Given the description of an element on the screen output the (x, y) to click on. 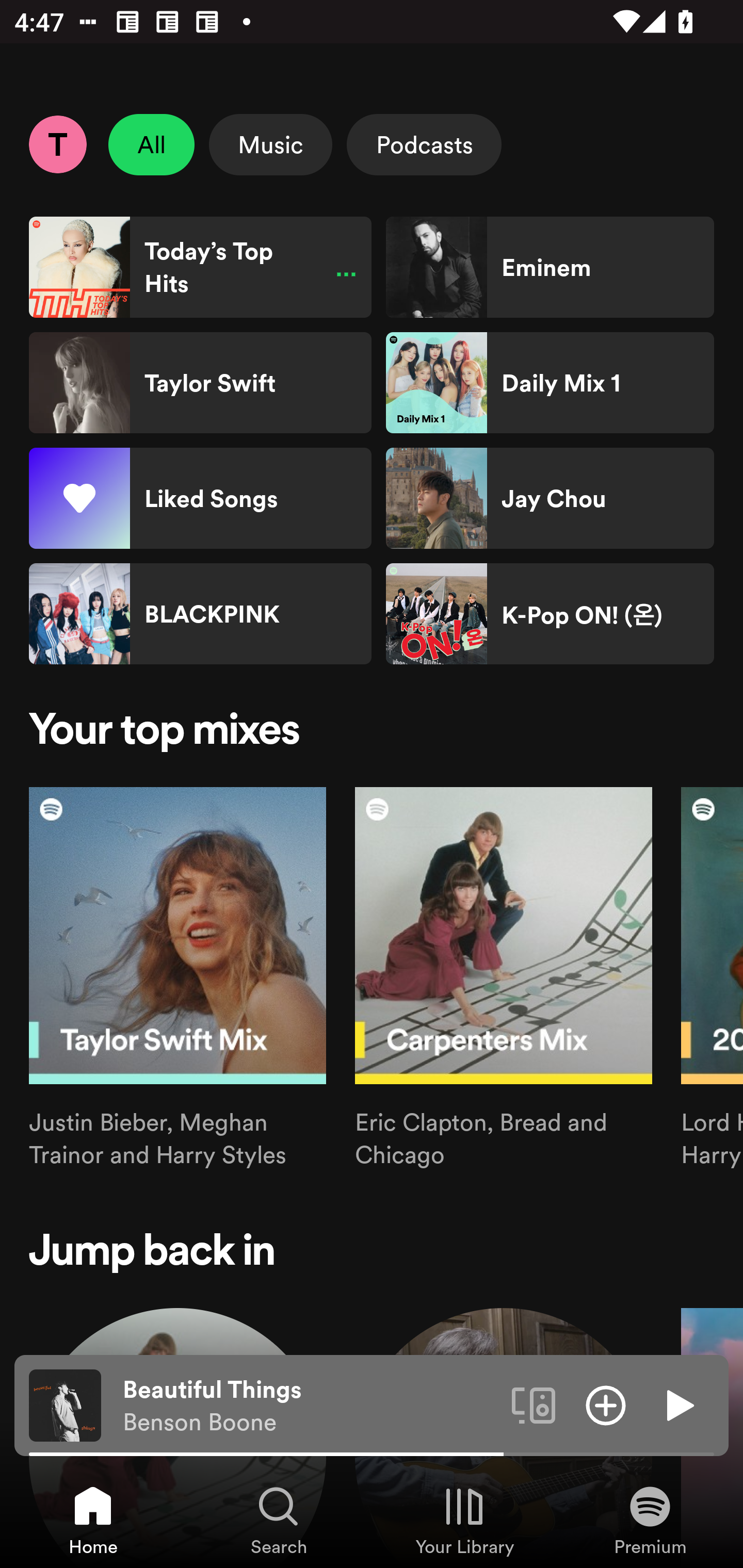
Profile (57, 144)
All Unselect All (151, 144)
Music Select Music (270, 144)
Podcasts Select Podcasts (423, 144)
Today’s Top Hits Shortcut Today’s Top Hits Paused (199, 267)
Eminem Shortcut Eminem (549, 267)
Taylor Swift Shortcut Taylor Swift (199, 382)
Daily Mix 1 Shortcut Daily Mix 1 (549, 382)
Liked Songs Shortcut Liked Songs (199, 498)
Jay Chou Shortcut Jay Chou (549, 498)
BLACKPINK Shortcut BLACKPINK (199, 613)
K-Pop ON! (온) Shortcut K-Pop ON! (온) (549, 613)
Beautiful Things Benson Boone (309, 1405)
The cover art of the currently playing track (64, 1404)
Connect to a device. Opens the devices menu (533, 1404)
Add item (605, 1404)
Play (677, 1404)
Home, Tab 1 of 4 Home Home (92, 1519)
Search, Tab 2 of 4 Search Search (278, 1519)
Your Library, Tab 3 of 4 Your Library Your Library (464, 1519)
Premium, Tab 4 of 4 Premium Premium (650, 1519)
